Given the description of an element on the screen output the (x, y) to click on. 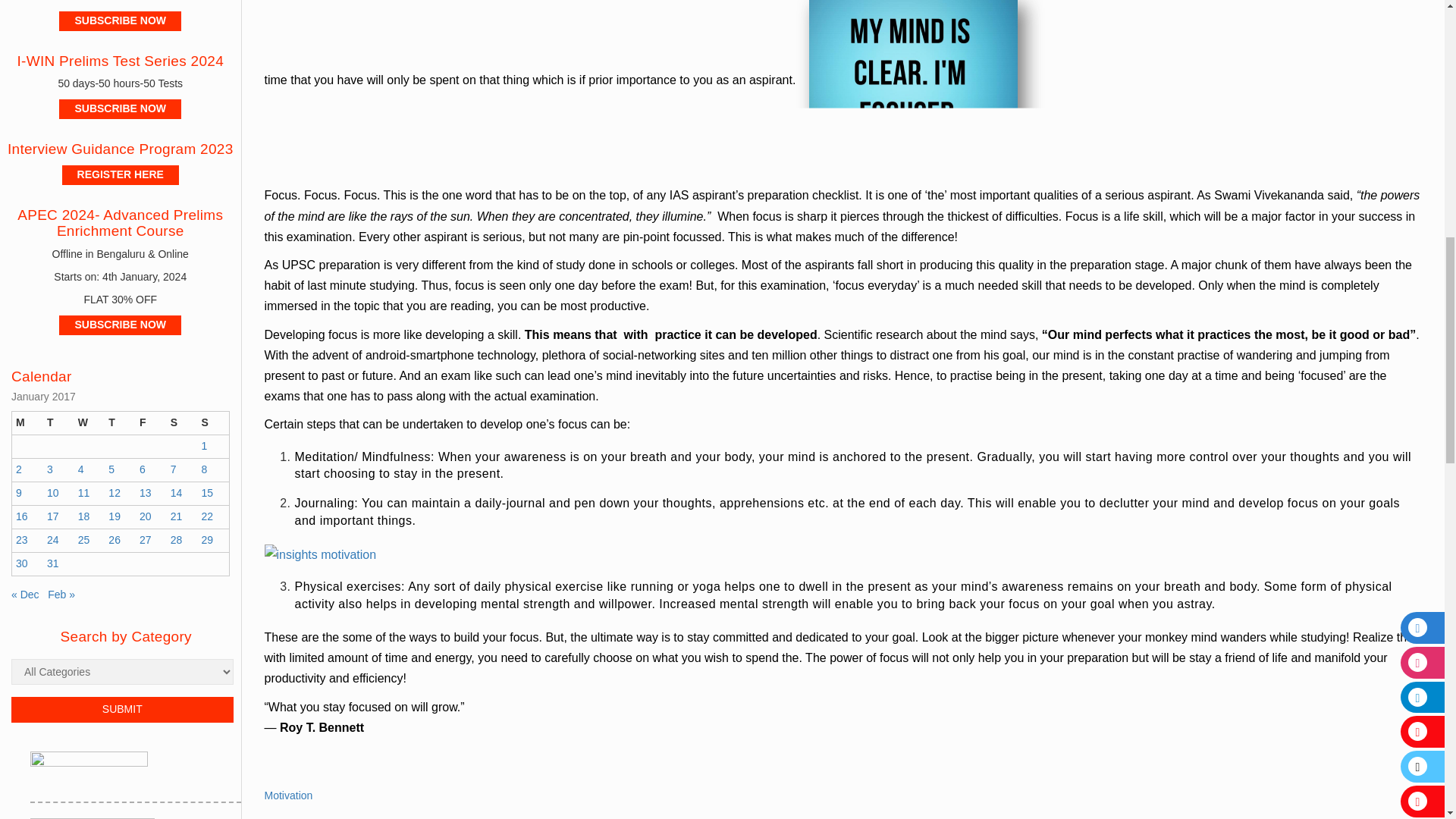
Thursday (119, 422)
Monday (27, 422)
Saturday (182, 422)
Wednesday (89, 422)
Submit (121, 709)
Sunday (212, 422)
Tuesday (58, 422)
Friday (151, 422)
